Given the description of an element on the screen output the (x, y) to click on. 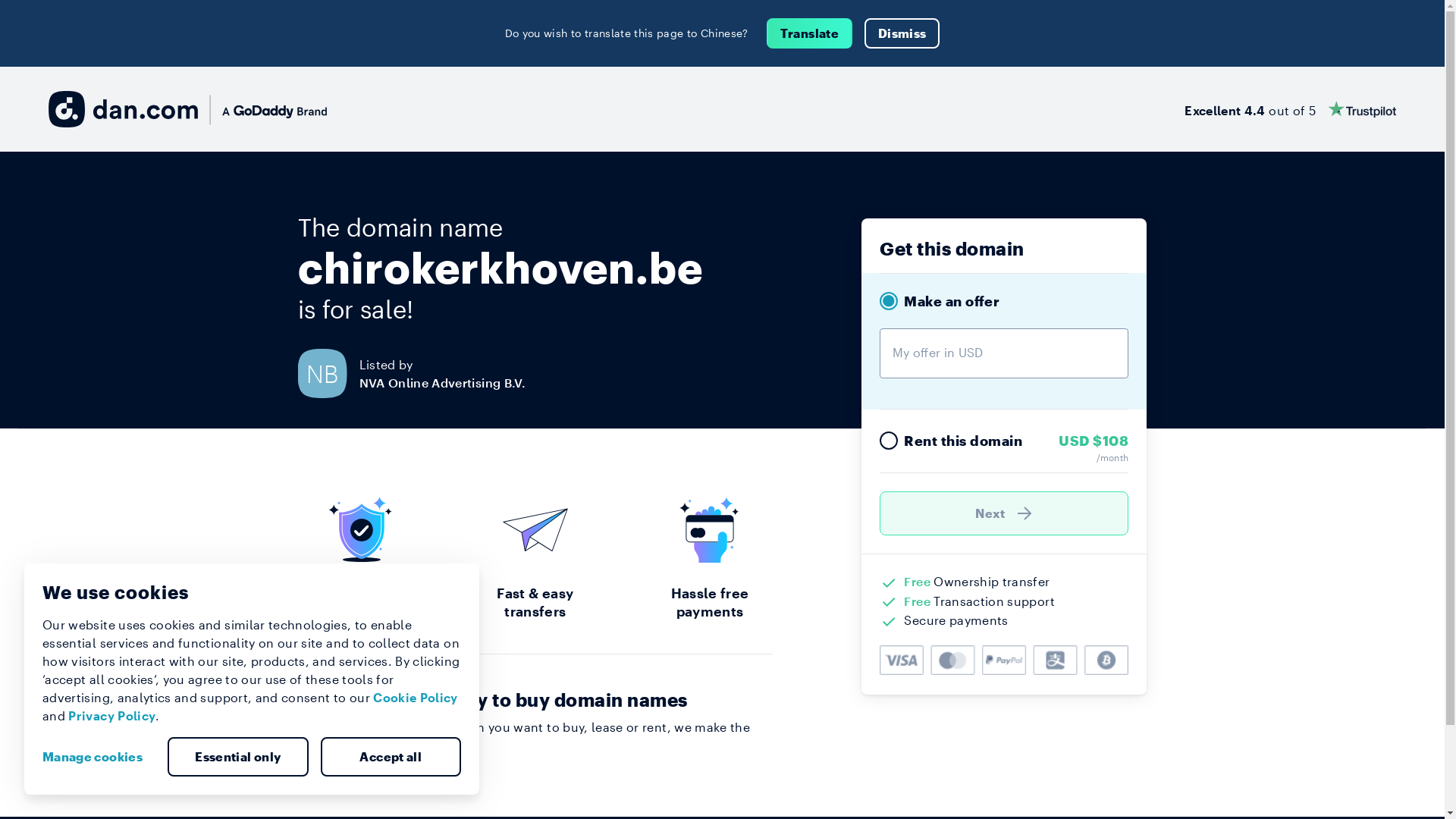
Manage cookies Element type: text (98, 756)
Excellent 4.4 out of 5 Element type: text (1290, 109)
Translate Element type: text (809, 33)
Next
) Element type: text (1003, 513)
Essential only Element type: text (237, 756)
Dismiss Element type: text (901, 33)
Privacy Policy Element type: text (111, 715)
Cookie Policy Element type: text (415, 697)
Accept all Element type: text (390, 756)
